Given the description of an element on the screen output the (x, y) to click on. 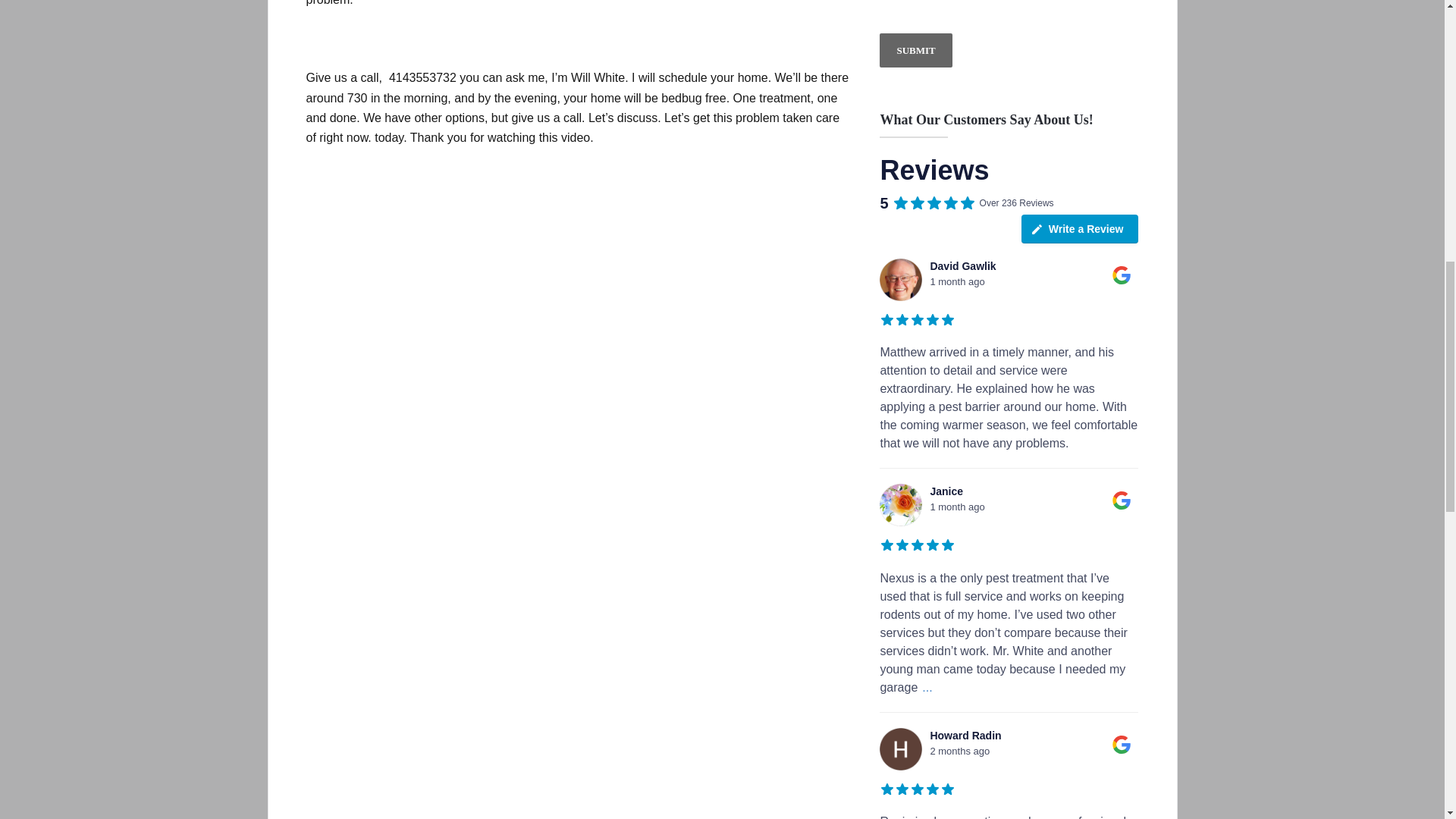
Howard Radin (900, 749)
Submit (915, 50)
Janice (900, 505)
... (924, 686)
David Gawlik (900, 279)
Write a Review (1080, 228)
Submit (915, 50)
